Given the description of an element on the screen output the (x, y) to click on. 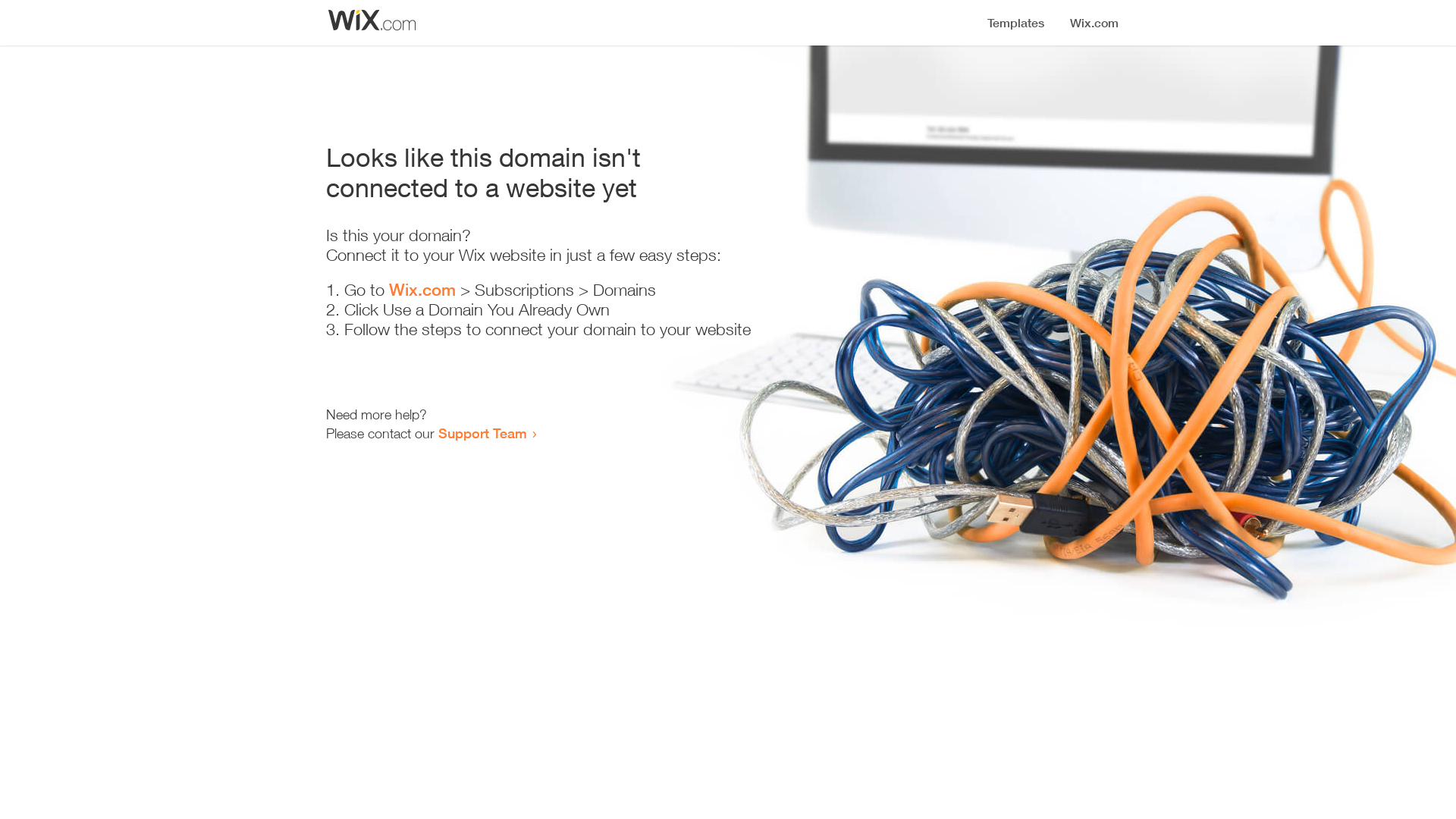
Wix.com Element type: text (422, 289)
Support Team Element type: text (482, 432)
